Given the description of an element on the screen output the (x, y) to click on. 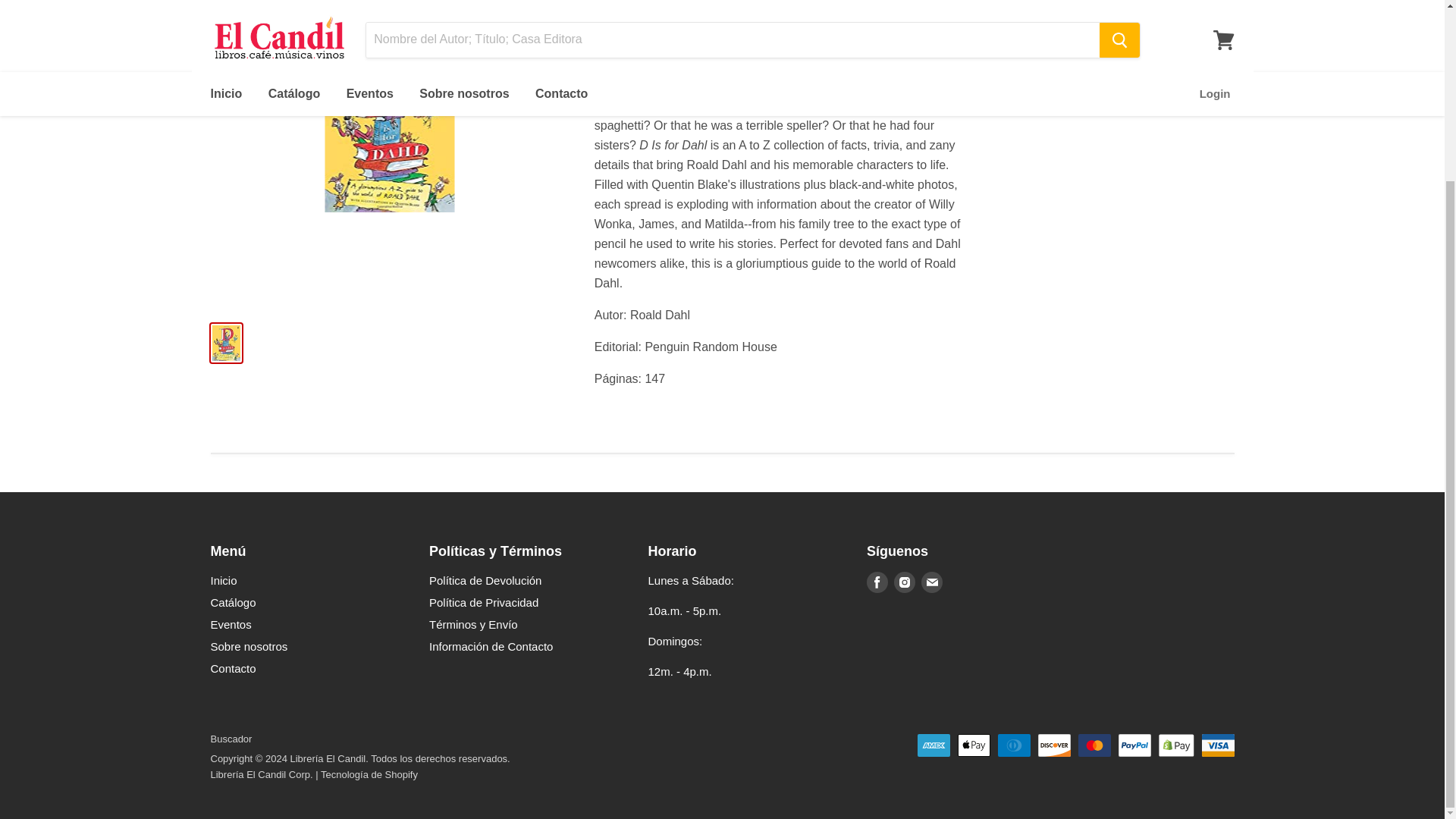
Sobre nosotros (249, 645)
Facebook (877, 582)
Compartir en Facebook (1017, 54)
Instagram (904, 582)
Inicio (224, 580)
E-mail (931, 582)
Contacto (233, 667)
Eventos (231, 624)
Hacer Pin en Pinterest (1090, 54)
Tuitear en Twitter (1041, 54)
